Given the description of an element on the screen output the (x, y) to click on. 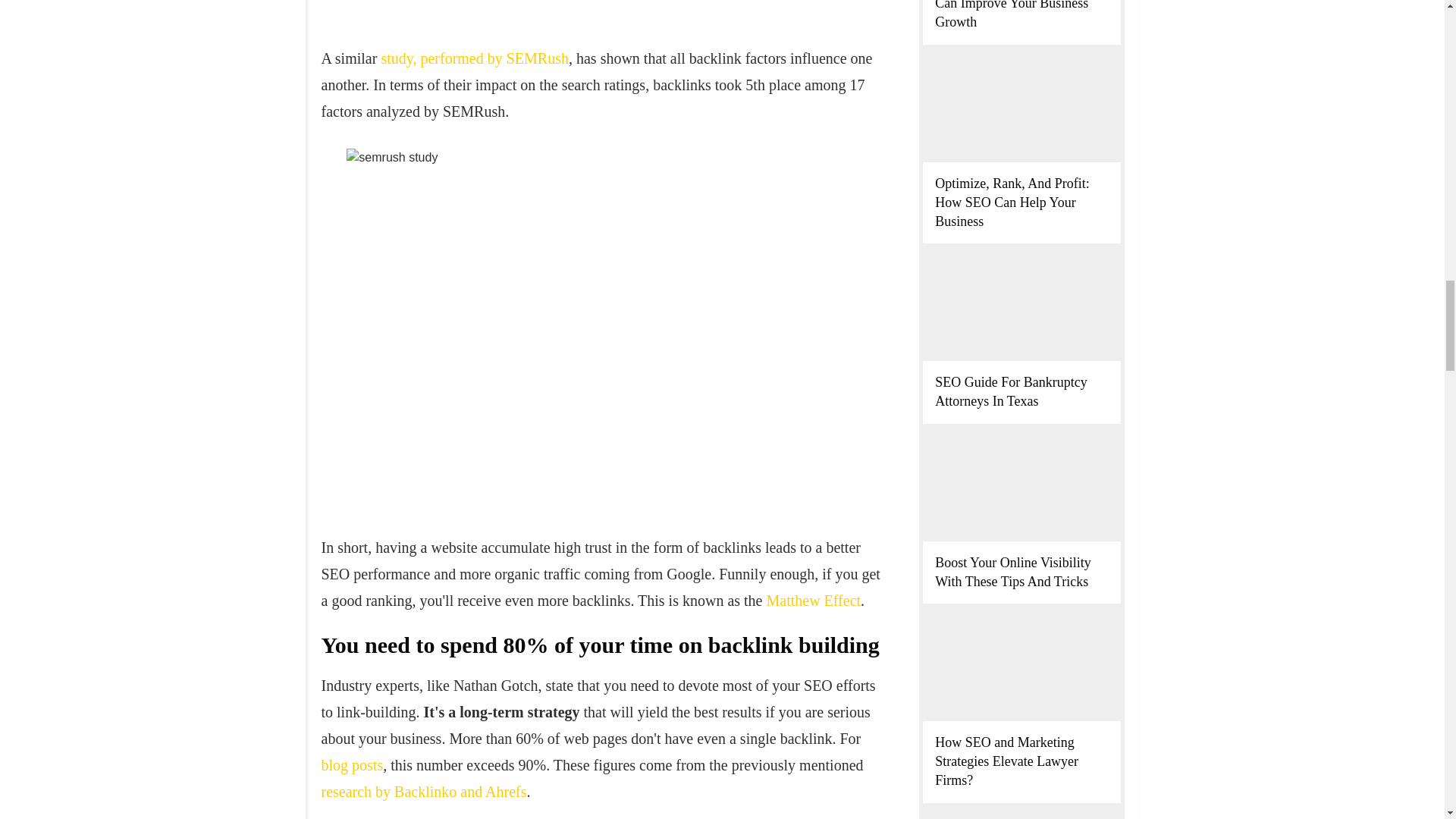
SEO Guide For Bankruptcy Attorneys In Texas (1010, 391)
Optimize, Rank, And Profit: How SEO Can Help Your Business (1011, 202)
The Top Ways An SEO Agency Can Improve Your Business Growth (1020, 14)
